Given the description of an element on the screen output the (x, y) to click on. 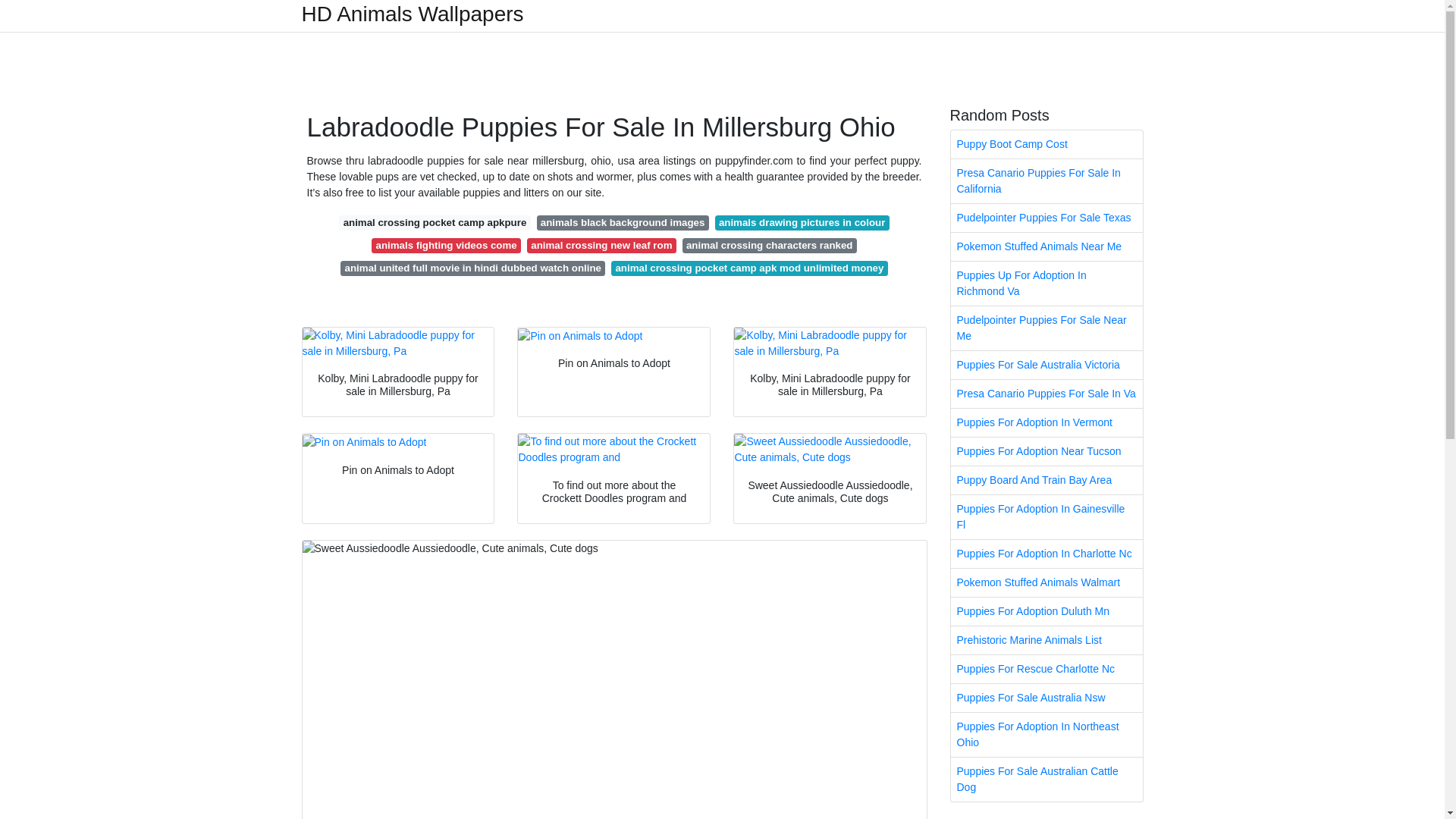
Pudelpointer Puppies For Sale Texas (1046, 217)
Puppies For Adoption In Charlotte Nc (1046, 553)
Puppies For Adoption Near Tucson (1046, 451)
animal united full movie in hindi dubbed watch online (472, 268)
Pudelpointer Puppies For Sale Near Me (1046, 328)
animals fighting videos come (446, 245)
animal crossing pocket camp apkpure (434, 222)
Prehistoric Marine Animals List (1046, 640)
Pokemon Stuffed Animals Walmart (1046, 582)
HD Animals Wallpapers (412, 13)
animals drawing pictures in colour (801, 222)
animal crossing characters ranked (769, 245)
Puppies For Sale Australia Nsw (1046, 697)
Presa Canario Puppies For Sale In California (1046, 180)
Puppies Up For Adoption In Richmond Va (1046, 283)
